Given the description of an element on the screen output the (x, y) to click on. 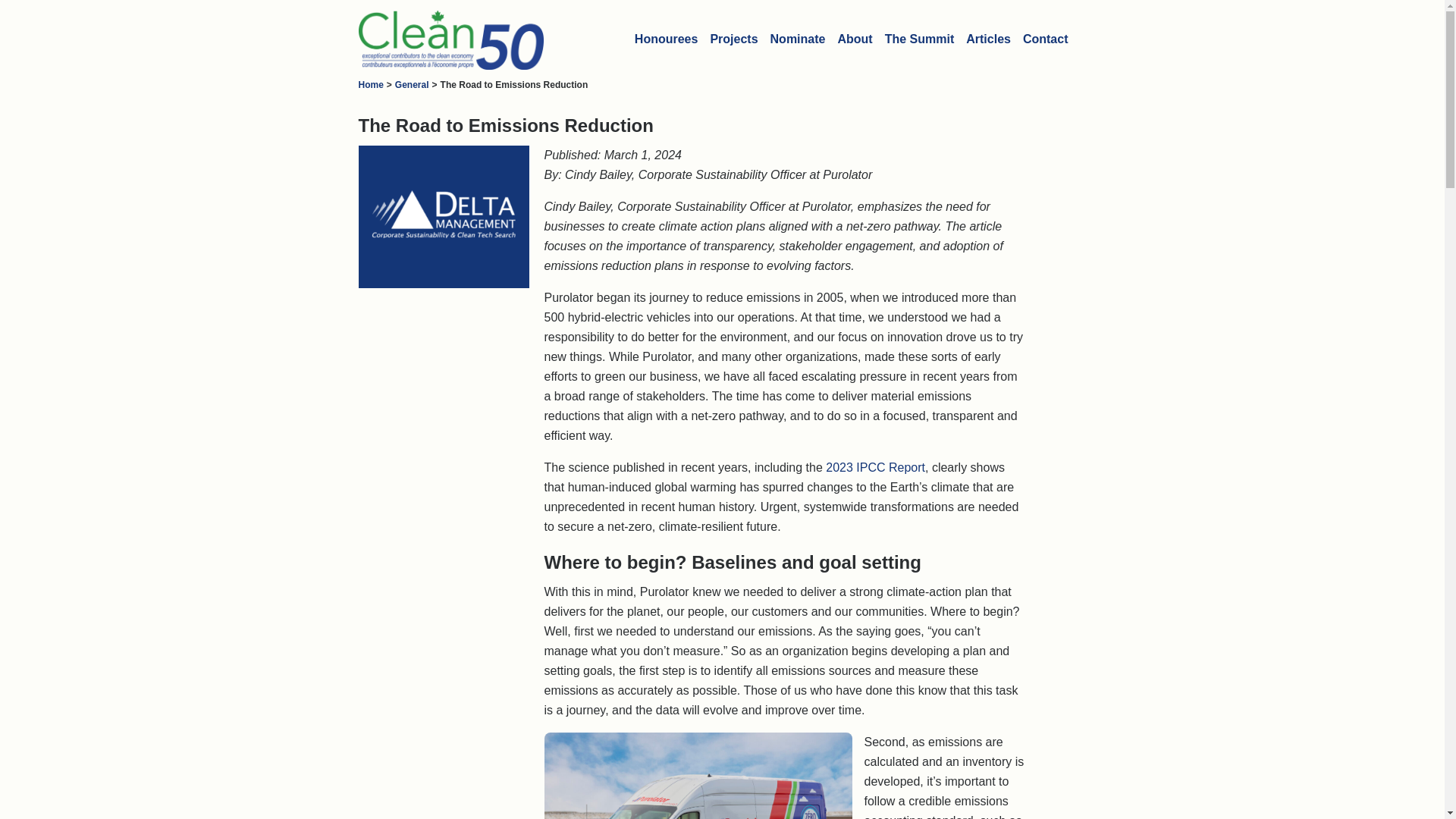
General (411, 84)
Contact (1045, 39)
About (854, 39)
Honourees (666, 39)
Home (370, 84)
Clean50 (440, 38)
Contact (1045, 39)
Nominate (797, 39)
Articles (987, 39)
Honourees (666, 39)
Projects (732, 39)
Articles (987, 39)
Projects (732, 39)
About (854, 39)
The Summit (919, 39)
